Given the description of an element on the screen output the (x, y) to click on. 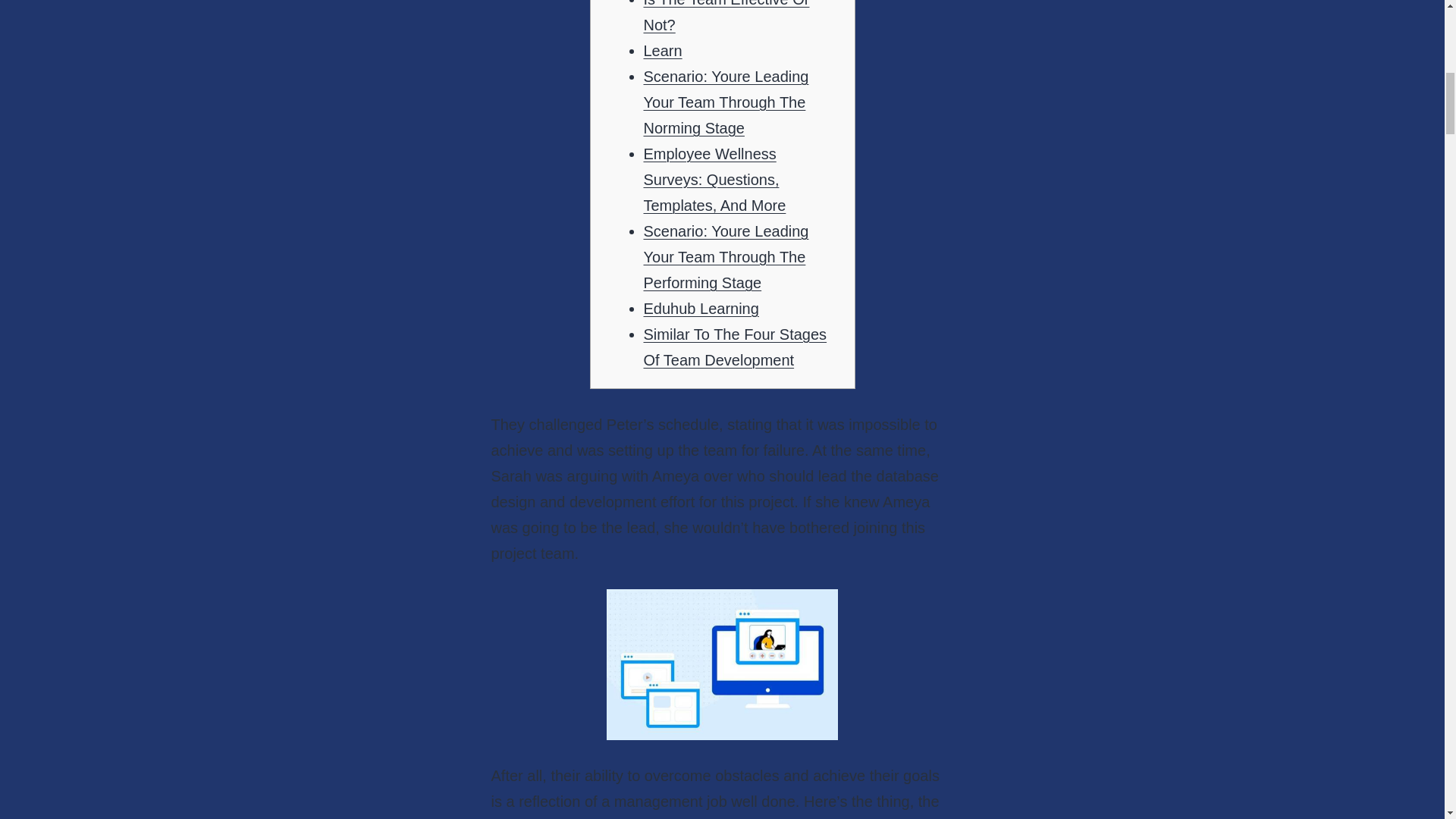
Similar To The Four Stages Of Team Development (735, 346)
Is The Team Effective Or Not? (726, 16)
Scenario: Youre Leading Your Team Through The Norming Stage (725, 101)
Employee Wellness Surveys: Questions, Templates, And More (714, 179)
Eduhub Learning (700, 308)
Learn (662, 50)
